Given the description of an element on the screen output the (x, y) to click on. 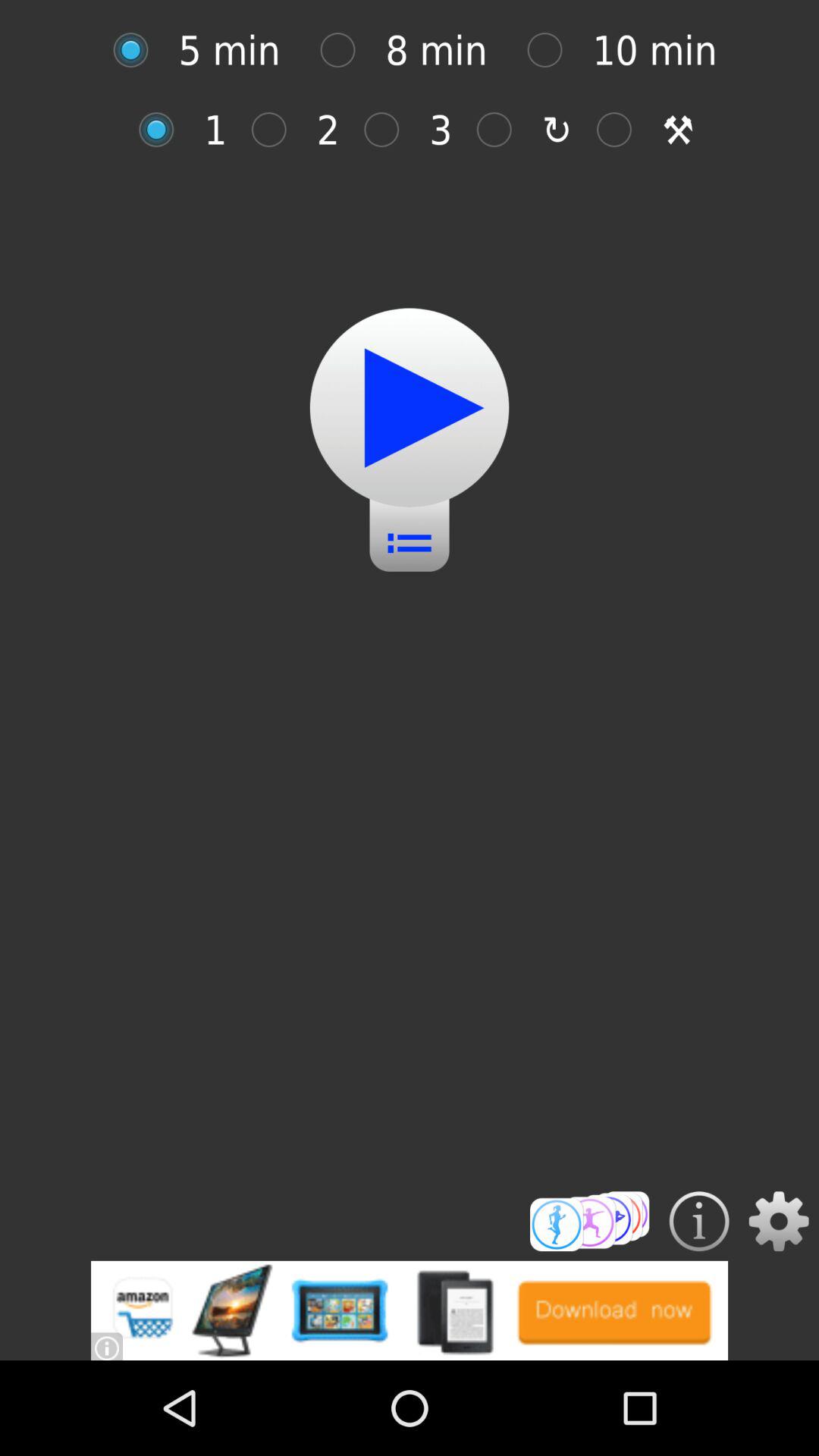
options (778, 1221)
